Given the description of an element on the screen output the (x, y) to click on. 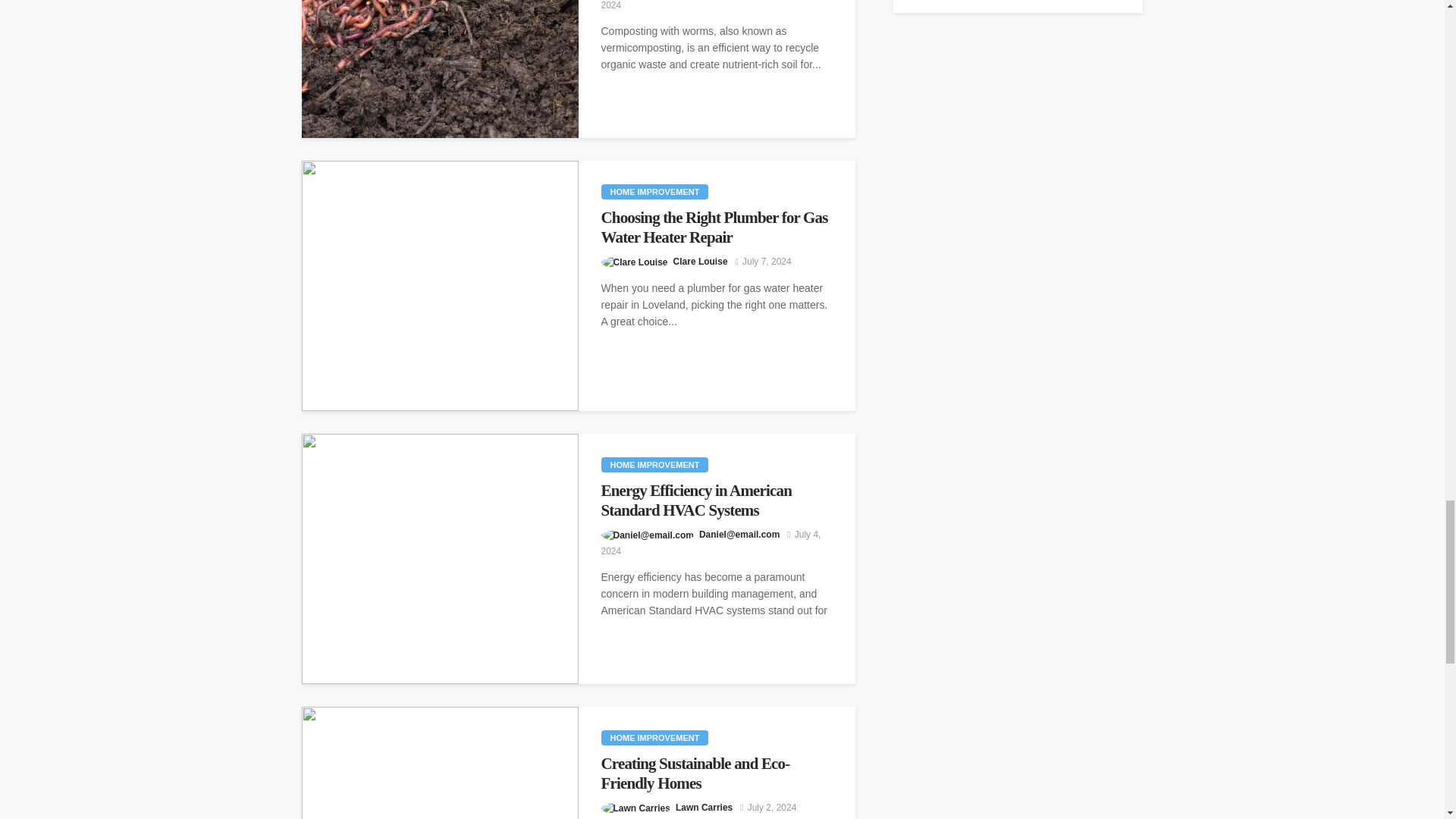
Energy Efficiency in American Standard HVAC Systems (439, 558)
Choosing the Right Plumber for Gas Water Heater Repair (715, 228)
Choosing the Right Plumber for Gas Water Heater Repair (439, 285)
Home Improvement (653, 191)
What Are the Best Worms for Composting and Why? (439, 69)
Home Improvement (653, 464)
